Given the description of an element on the screen output the (x, y) to click on. 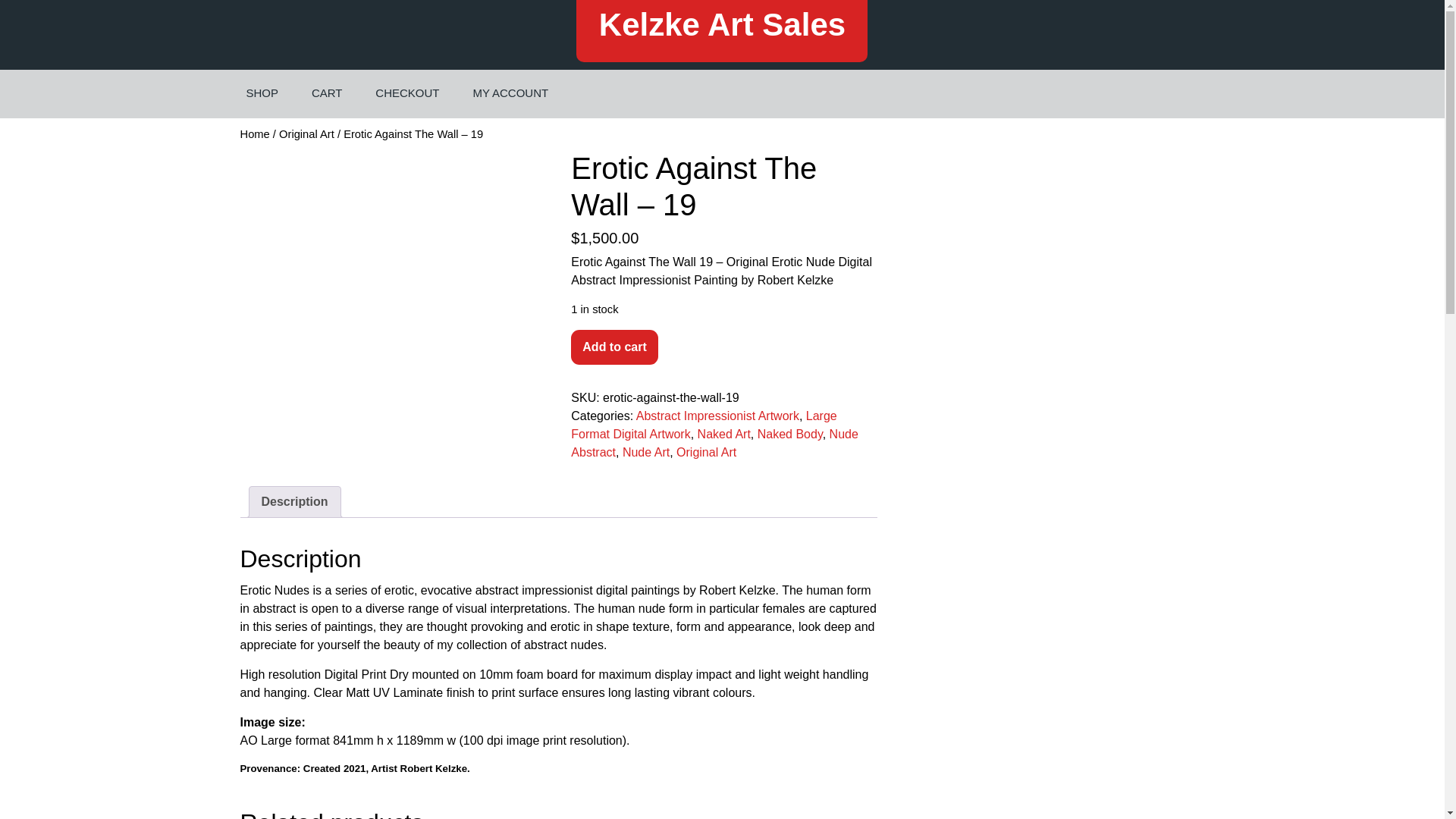
CART (327, 93)
SHOP (262, 93)
Large Format Digital Artwork (702, 424)
Abstract Impressionist Artwork (717, 415)
Add to cart (614, 347)
Nude Art (646, 451)
Search (1200, 93)
Naked Art (724, 433)
Description (293, 501)
CHECKOUT (406, 93)
Kelzke Art Sales (721, 24)
MY ACCOUNT (510, 93)
Search (1200, 93)
Original Art (306, 133)
Home (254, 133)
